Given the description of an element on the screen output the (x, y) to click on. 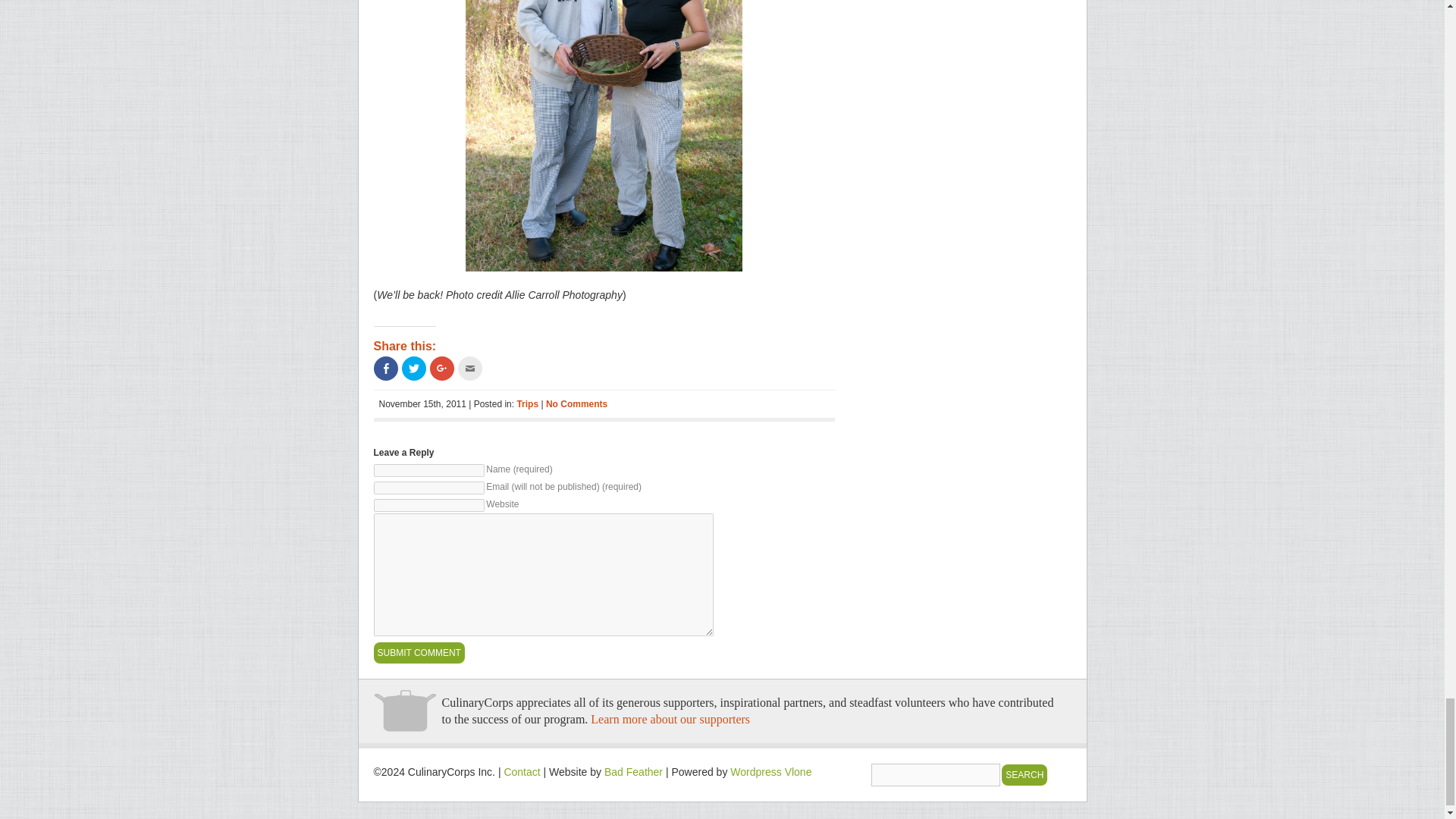
Click to share on Facebook (384, 368)
Submit Comment (418, 652)
No Comments (576, 403)
Search (1023, 774)
Trips (527, 403)
Submit Comment (418, 652)
